Given the description of an element on the screen output the (x, y) to click on. 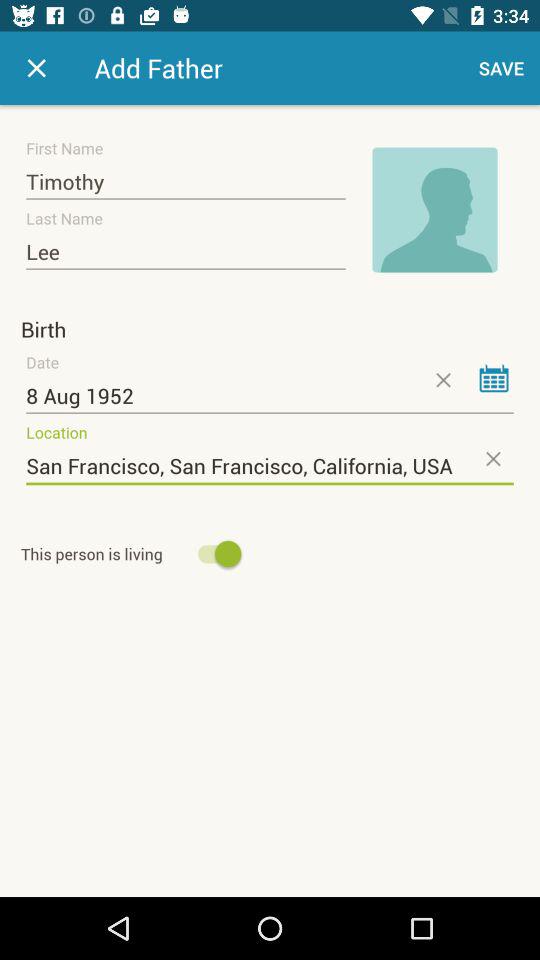
select lee (185, 252)
